Given the description of an element on the screen output the (x, y) to click on. 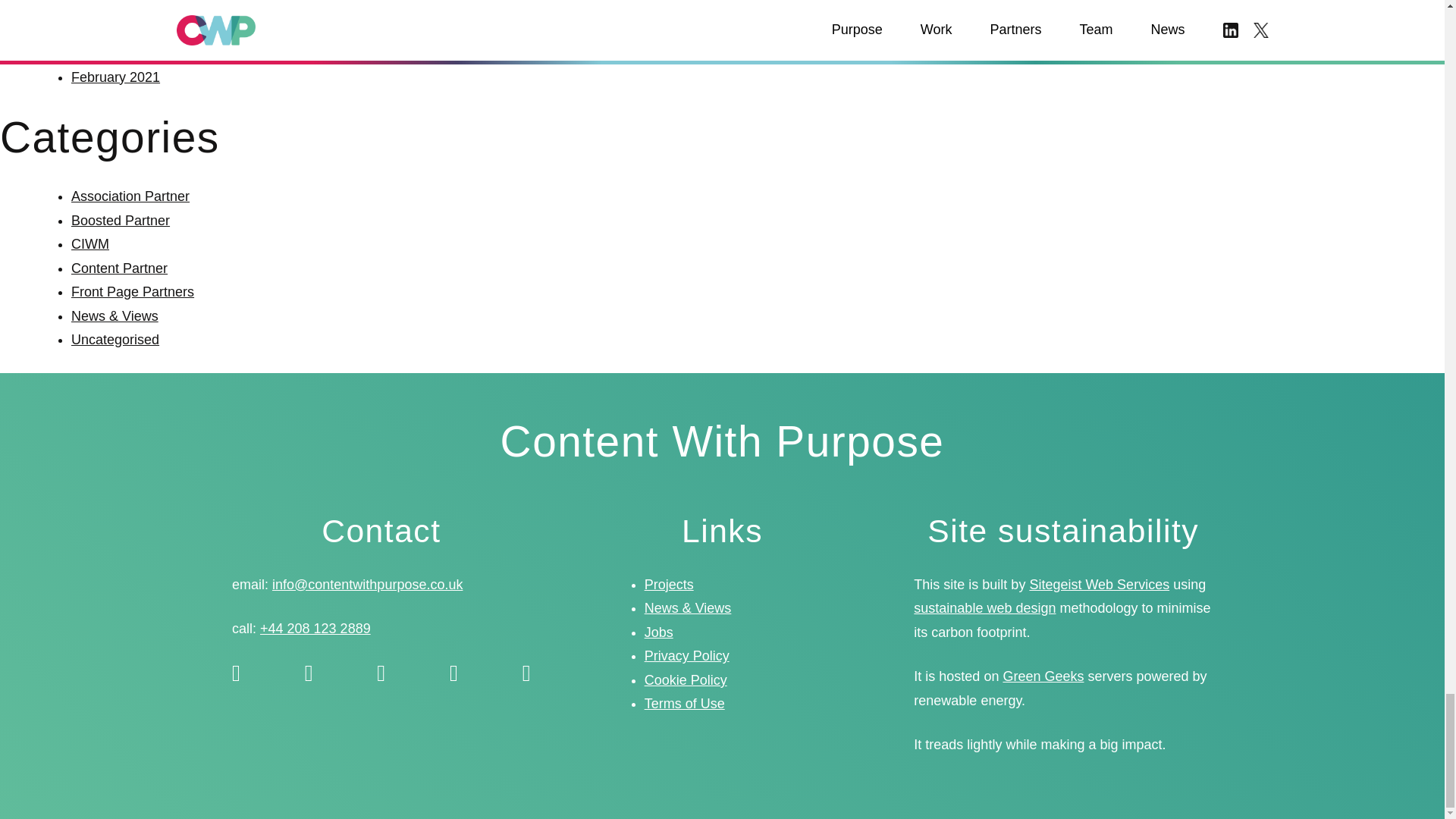
September 2021 (121, 29)
Association Partner (130, 196)
Boosted Partner (120, 220)
October 2021 (112, 6)
February 2021 (115, 77)
August 2021 (109, 52)
